Given the description of an element on the screen output the (x, y) to click on. 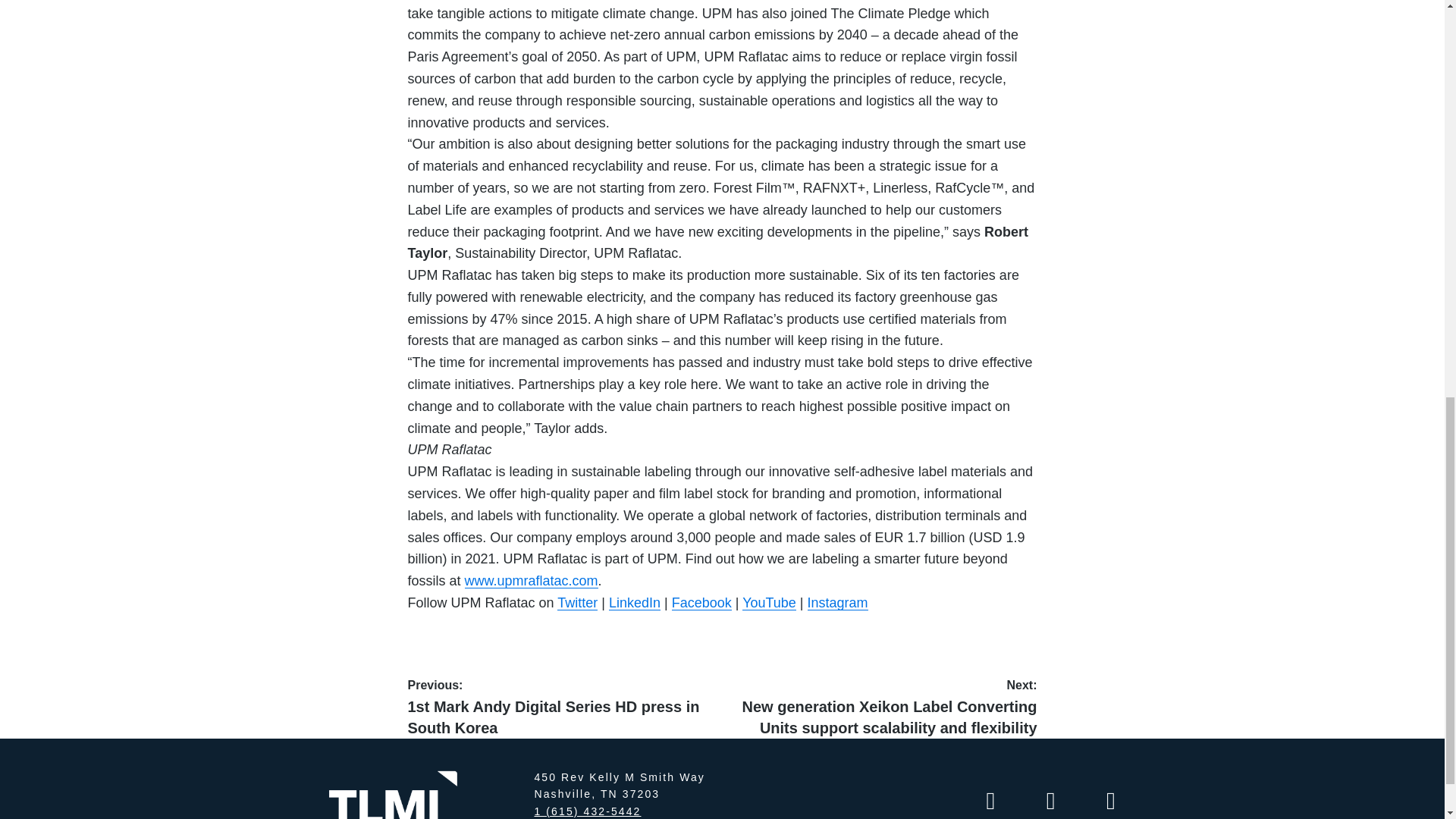
YouTube (769, 602)
LinkedIn (634, 602)
Facebook (701, 602)
www.upmraflatac.com (531, 580)
Instagram (837, 602)
Twitter (576, 602)
